Given the description of an element on the screen output the (x, y) to click on. 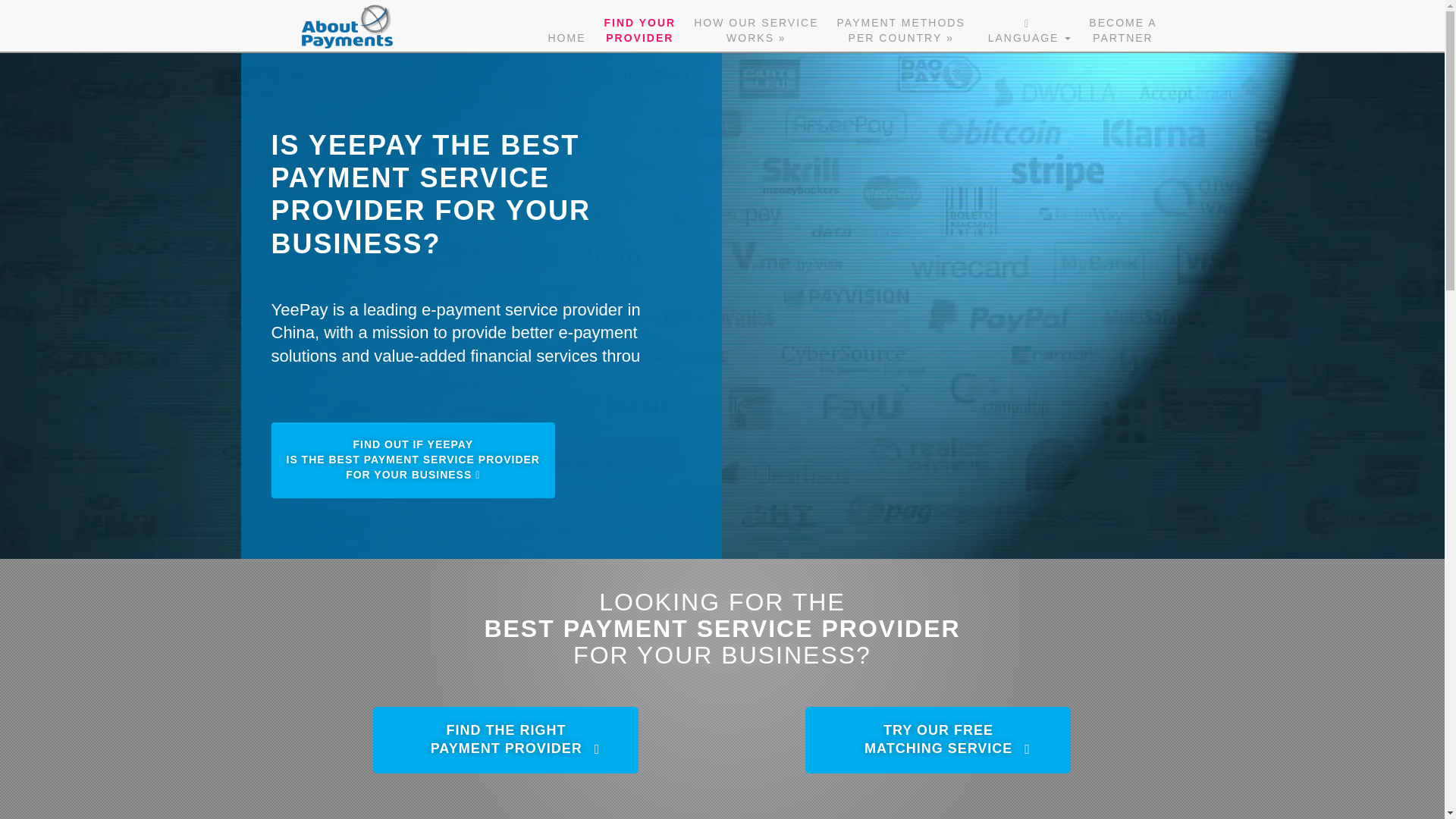
 LANGUAGE (937, 739)
HOME (1027, 25)
